Given the description of an element on the screen output the (x, y) to click on. 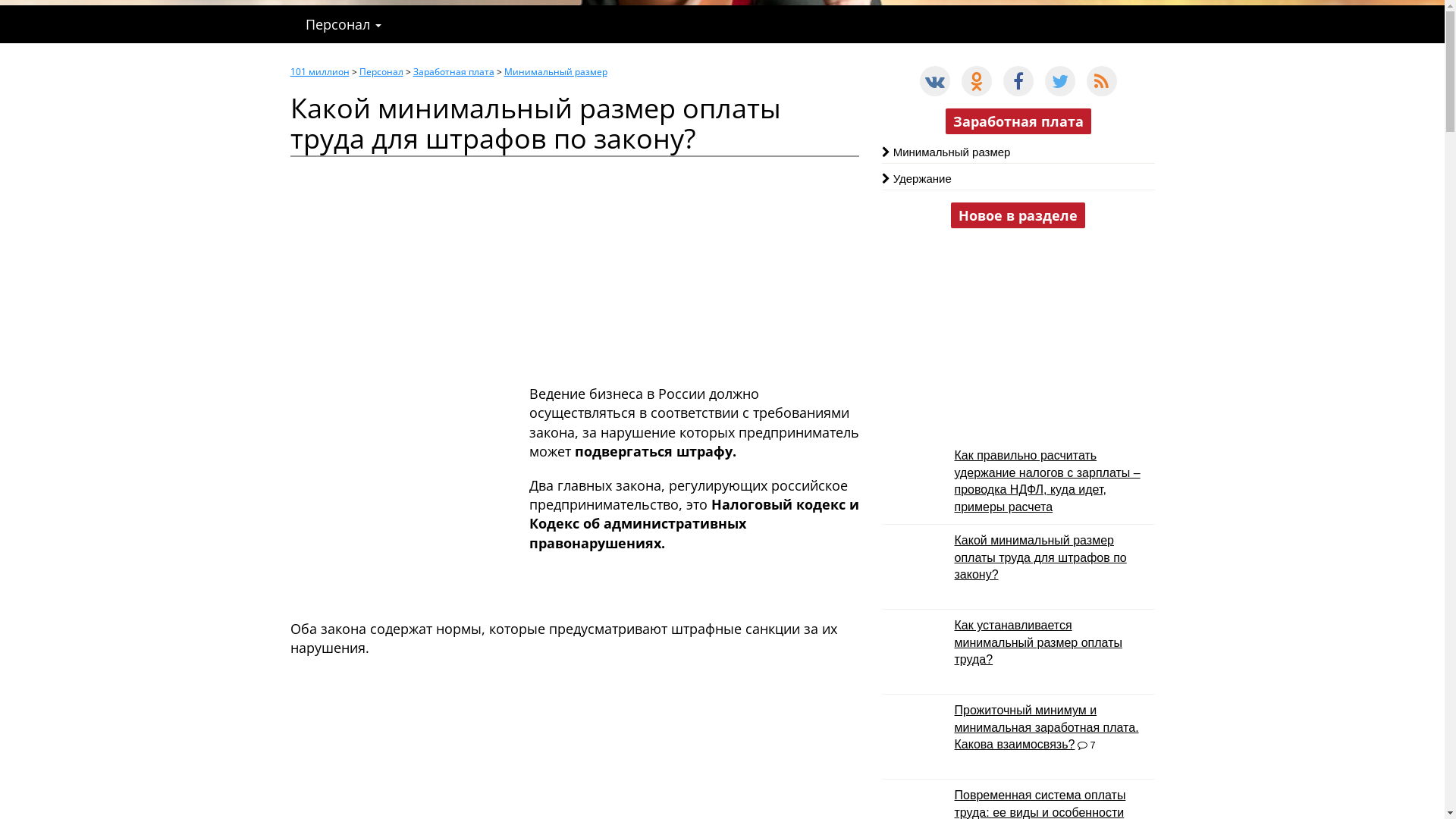
Advertisement Element type: hover (573, 262)
Advertisement Element type: hover (1017, 341)
